Given the description of an element on the screen output the (x, y) to click on. 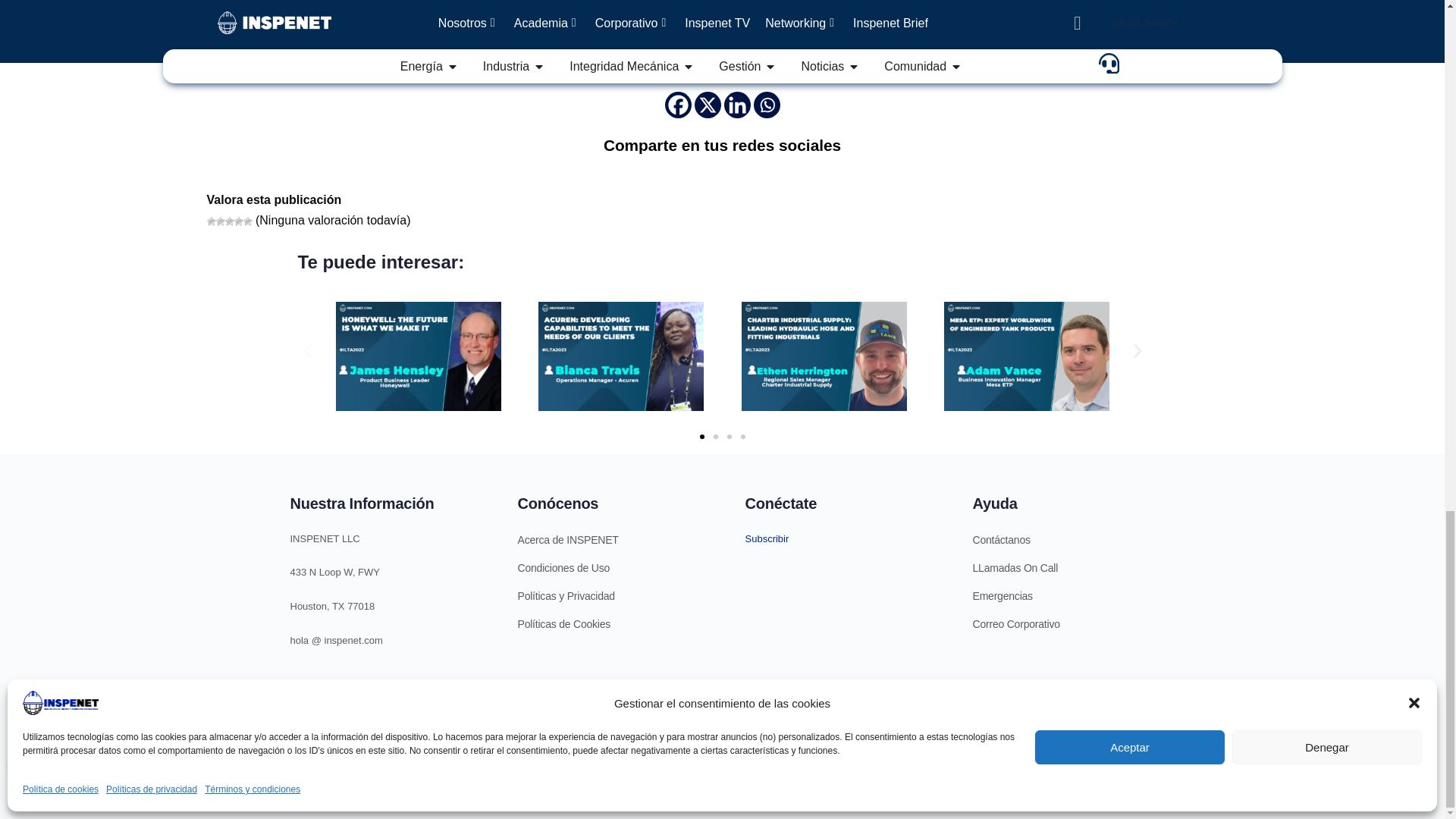
X (707, 104)
Subscribir (766, 538)
Facebook (676, 104)
Linkedin (736, 104)
1 estrella (210, 221)
2 estrellas (219, 221)
4 estrellas (237, 221)
5 estrellas (247, 221)
3 estrellas (228, 221)
Whatsapp (767, 104)
